Given the description of an element on the screen output the (x, y) to click on. 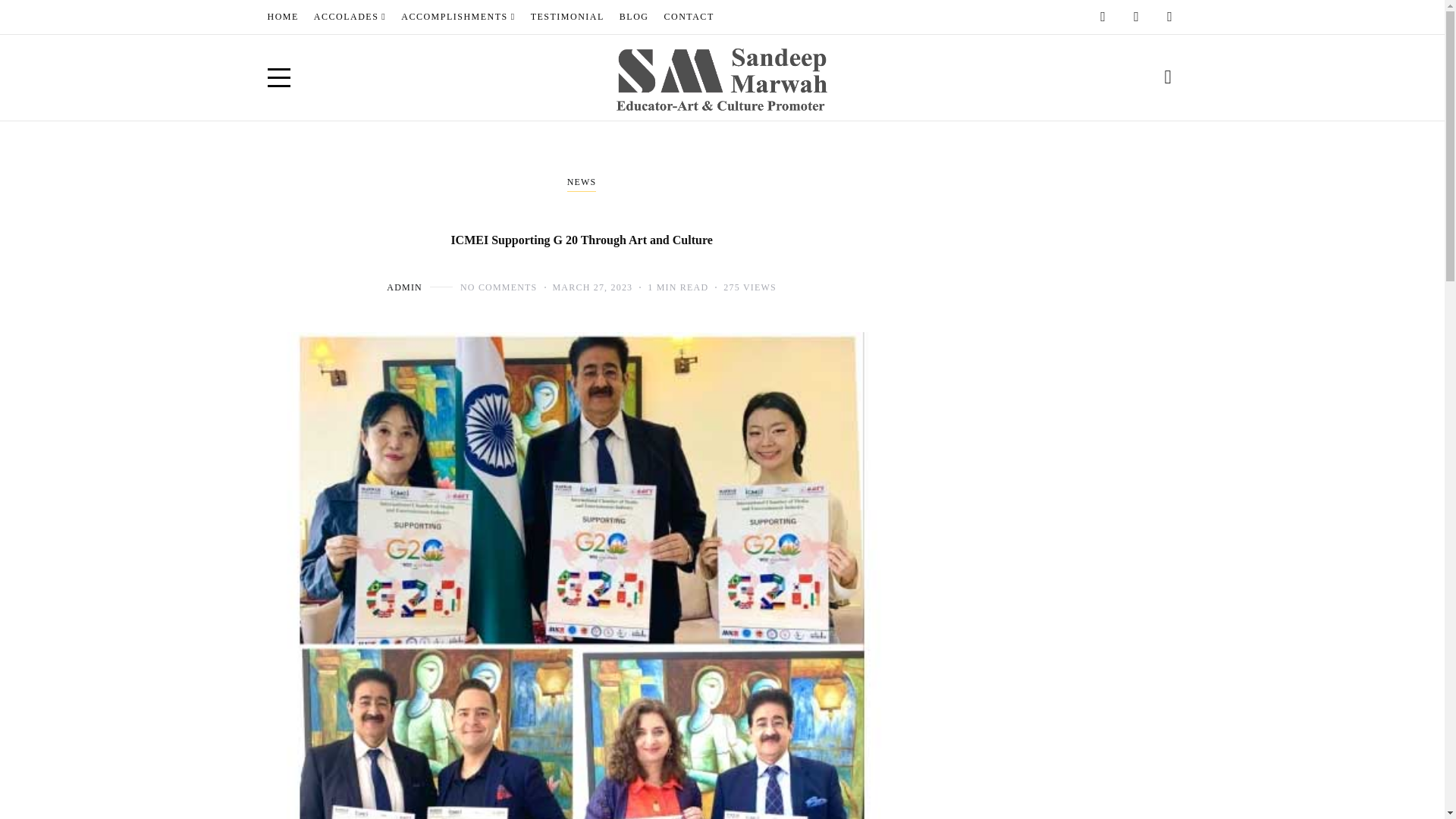
ACCOMPLISHMENTS (457, 17)
HOME (282, 17)
Instagram (1135, 16)
Categories (581, 183)
BLOG (633, 17)
TESTIMONIAL (566, 17)
CONTACT (689, 17)
Twitter (1169, 16)
Facebook (1102, 16)
ACCOLADES (349, 17)
